Given the description of an element on the screen output the (x, y) to click on. 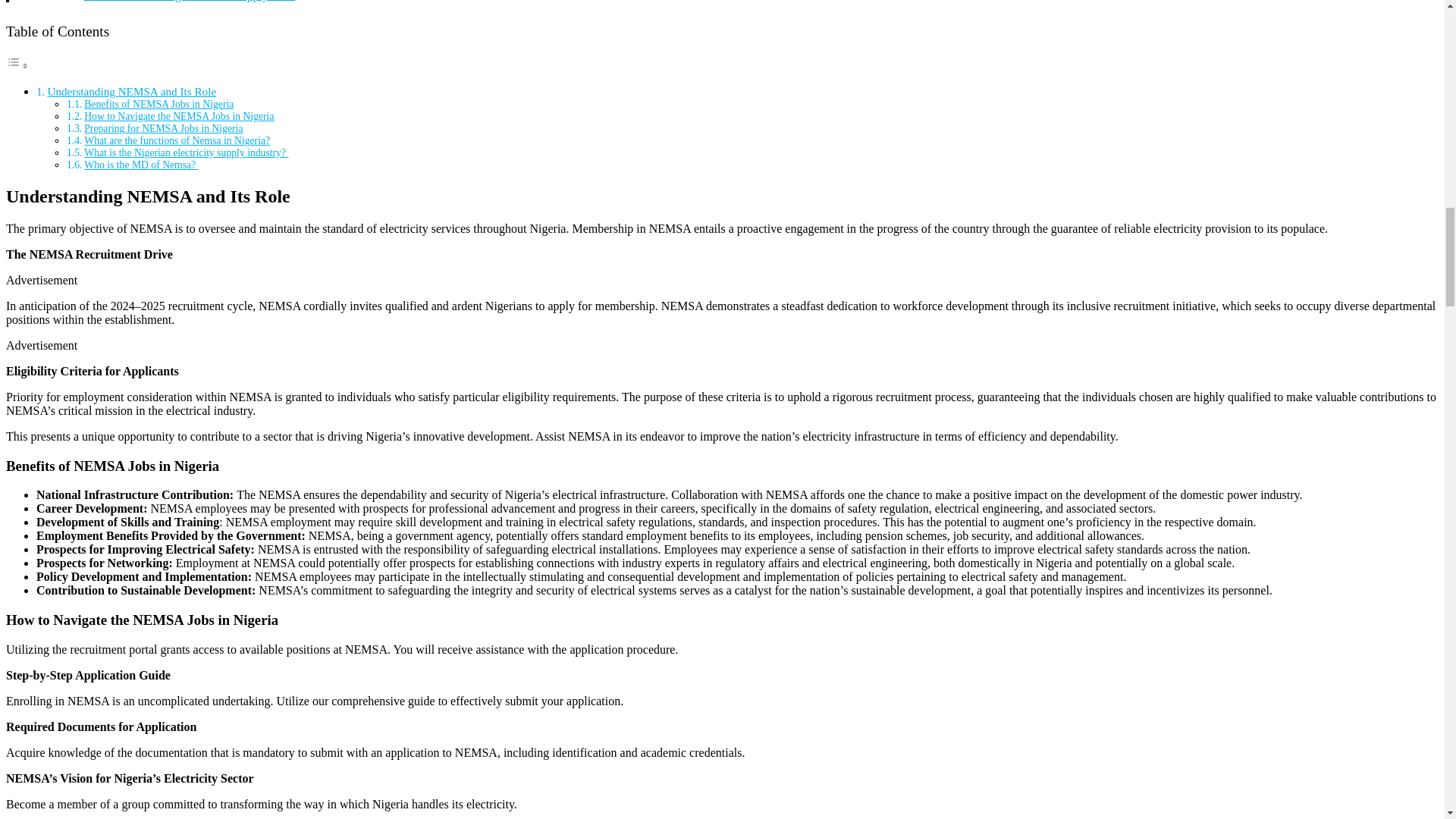
Preparing for NEMSA Jobs in Nigeria (163, 128)
Benefits of NEMSA Jobs in Nigeria (158, 103)
Understanding NEMSA and Its Role (130, 91)
What are the functions of Nemsa in Nigeria? (176, 140)
Benefits of NEMSA Jobs in Nigeria (158, 103)
Understanding NEMSA and Its Role (130, 91)
Who is the MD of Nemsa?  (141, 164)
What are the functions of Nemsa in Nigeria? (176, 140)
Preparing for NEMSA Jobs in Nigeria (163, 128)
